Given the description of an element on the screen output the (x, y) to click on. 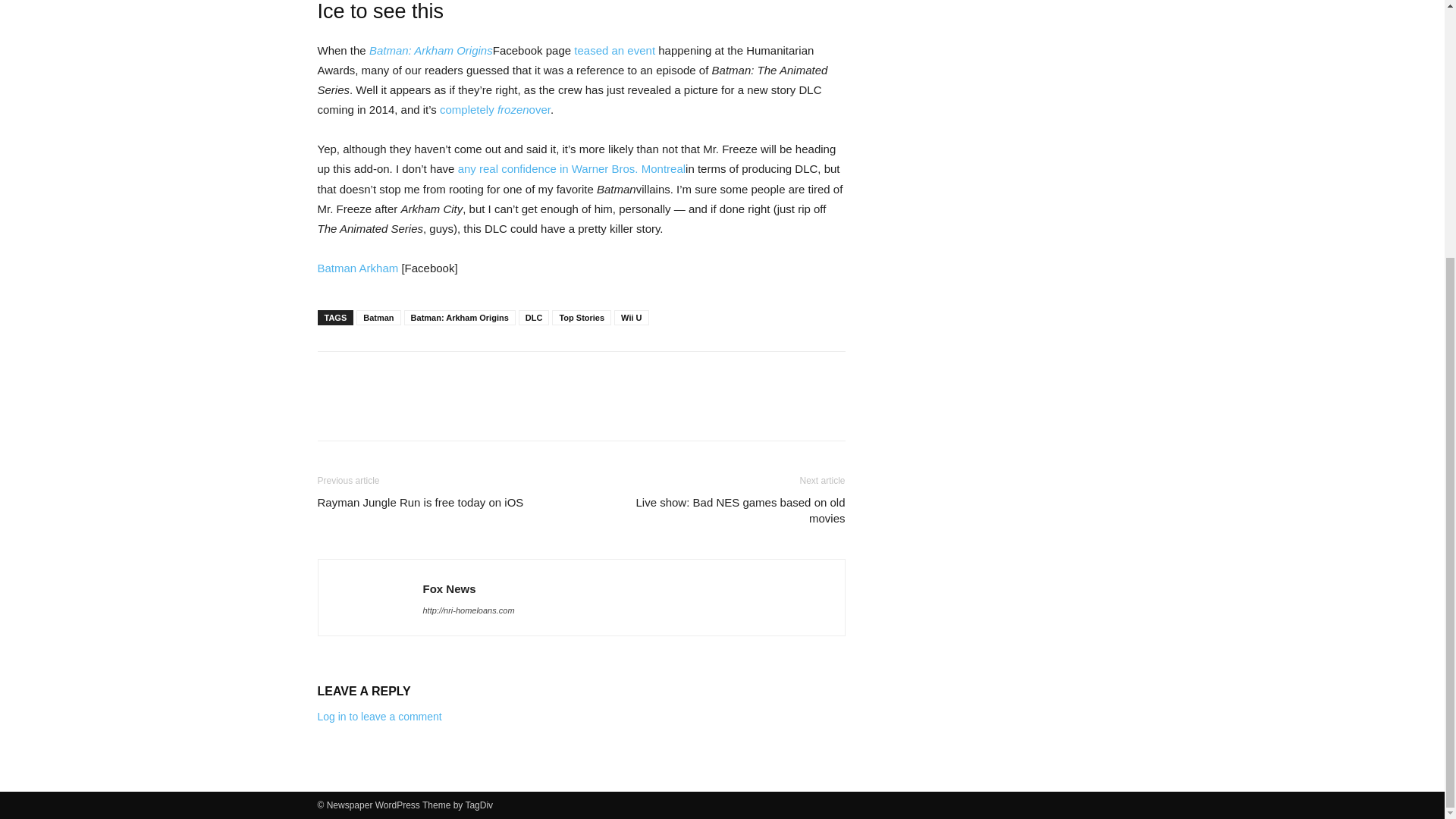
bottomFacebookLike (430, 375)
Rayman Jungle Run is free today on iOS (419, 502)
Batman: Arkham Origins (459, 317)
Batman: Arkham Origins (431, 50)
teased an event (614, 50)
Batman (378, 317)
Top Stories (581, 317)
Batman Arkham (357, 267)
any real confidence in Warner Bros. Montreal (571, 168)
DLC (534, 317)
